Given the description of an element on the screen output the (x, y) to click on. 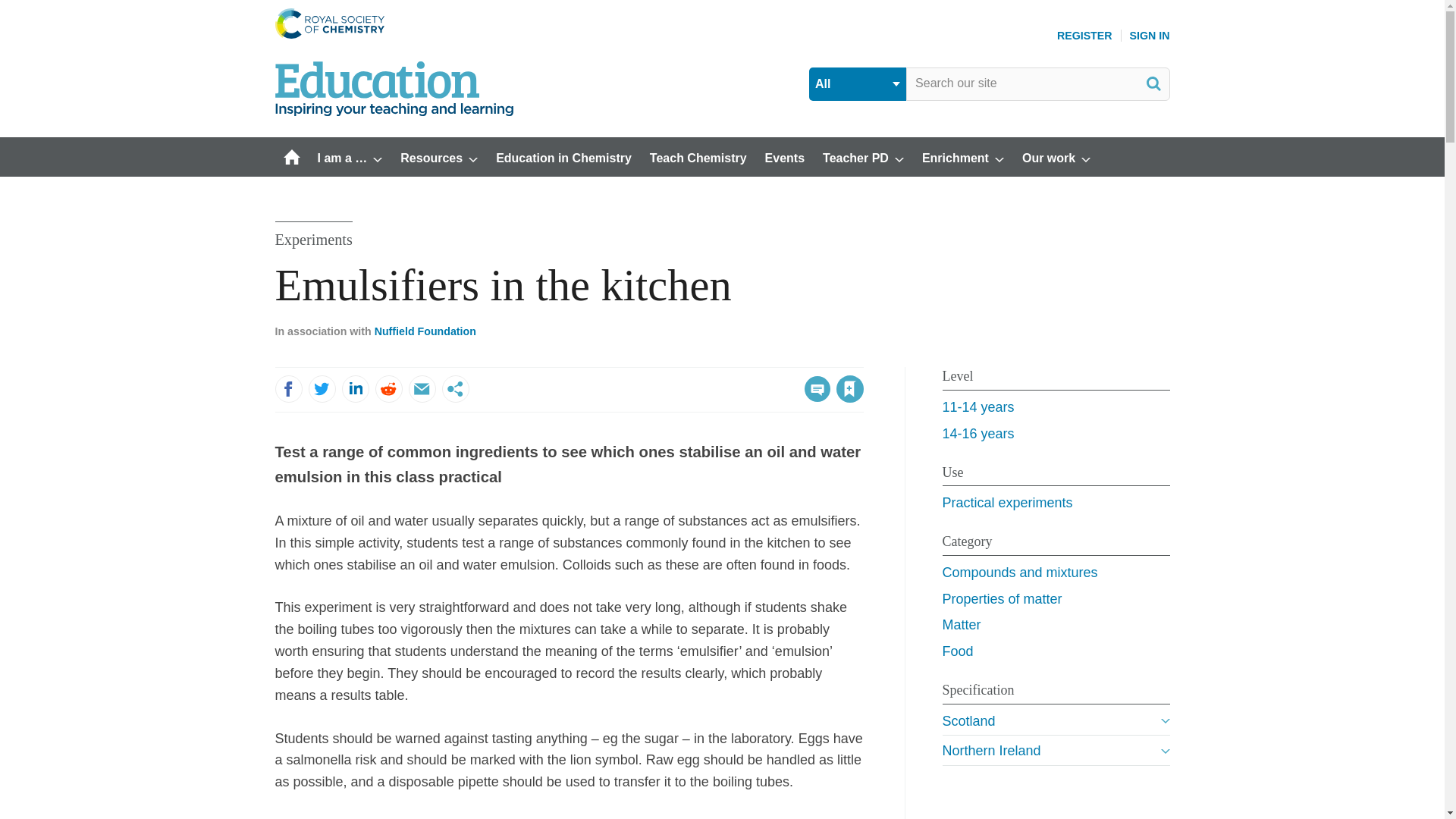
SIGN IN (1149, 35)
SEARCH (1152, 83)
Share this on Facebook (288, 388)
No comments (812, 397)
All (857, 83)
Share this on LinkedIn (354, 388)
Share this on Reddit (387, 388)
REGISTER (1084, 35)
More share options (454, 388)
Share this by email (421, 388)
Share this on Twitter (320, 388)
